Given the description of an element on the screen output the (x, y) to click on. 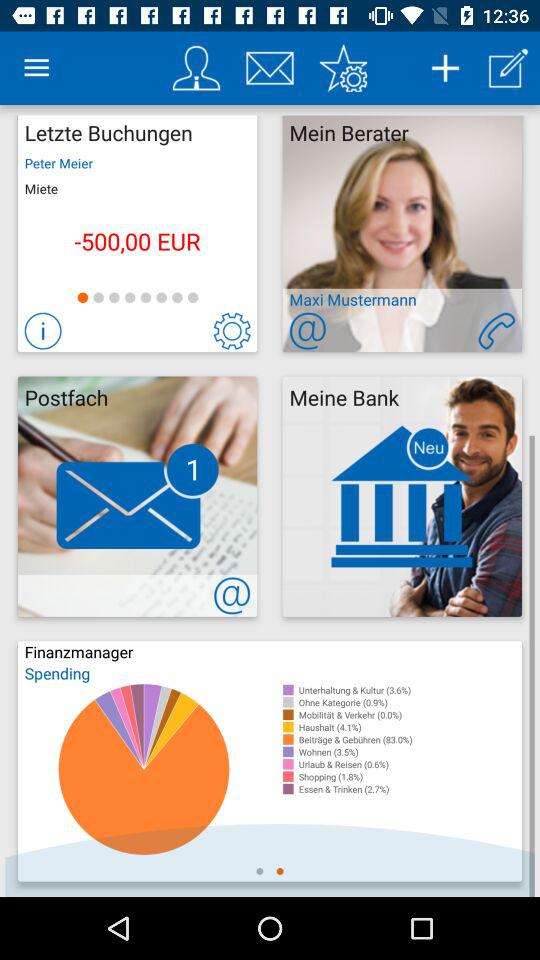
press icon below unterhaltung kultur 3 icon (409, 702)
